Given the description of an element on the screen output the (x, y) to click on. 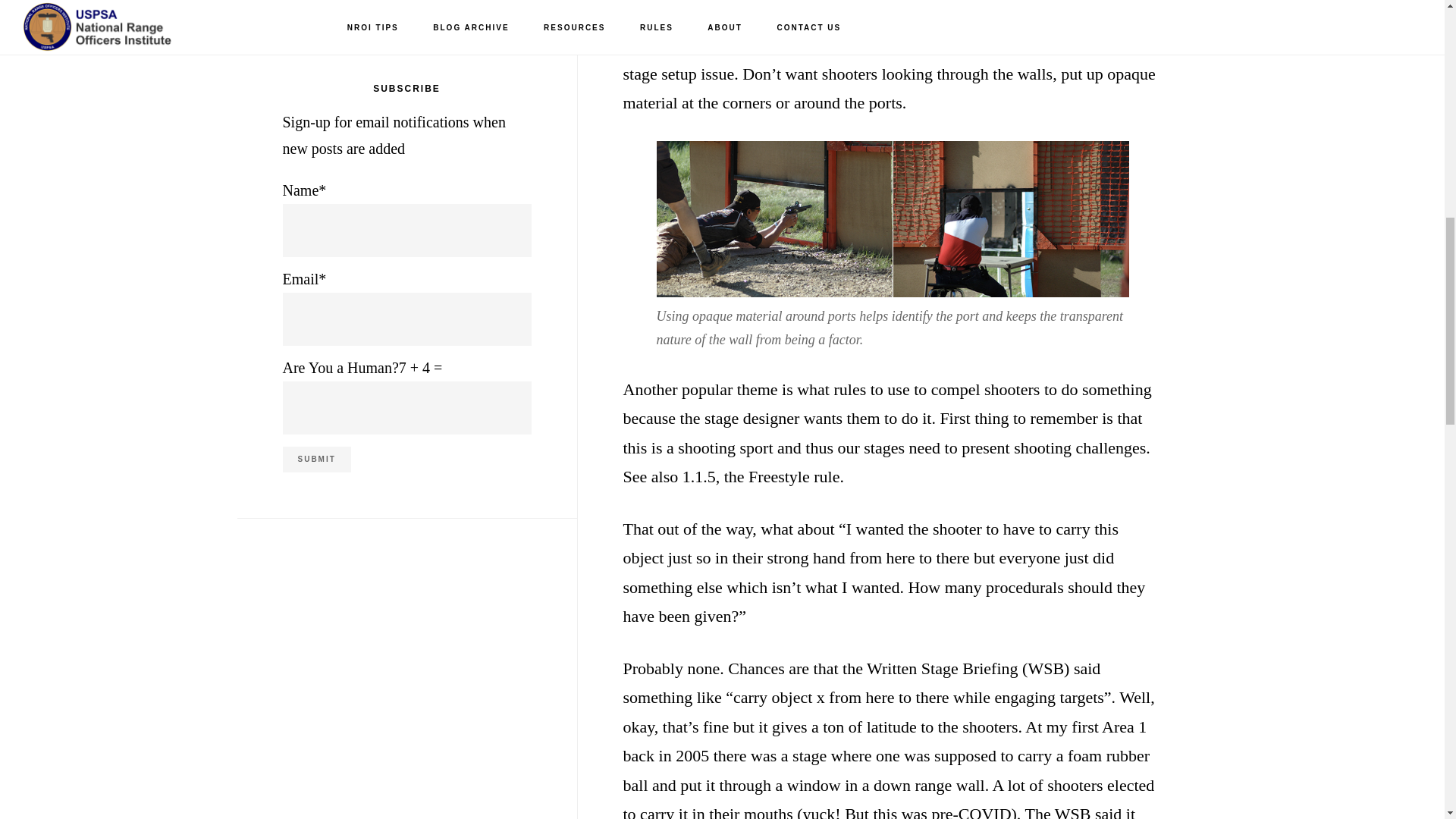
Submit (316, 459)
